Given the description of an element on the screen output the (x, y) to click on. 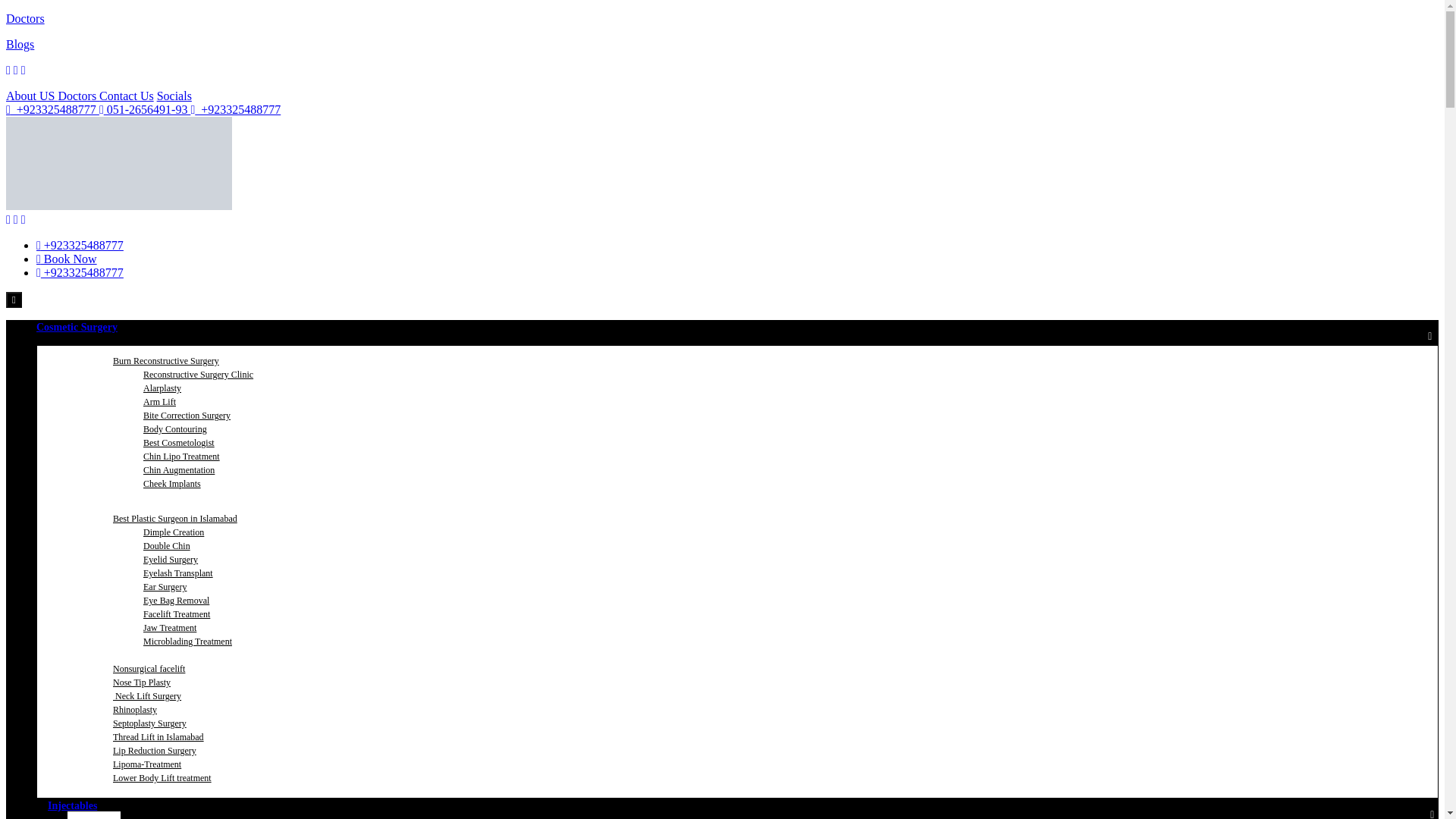
Body Contouring (175, 428)
Bite Correction Surgery (187, 414)
Chin Augmentation (179, 469)
Burn Reconstructive Surgery (165, 360)
Cheek Implants (171, 483)
Facelift Treatment (176, 613)
Socials (174, 95)
Eyelash Transplant (178, 572)
Blogs (19, 43)
Doctors (25, 18)
